Given the description of an element on the screen output the (x, y) to click on. 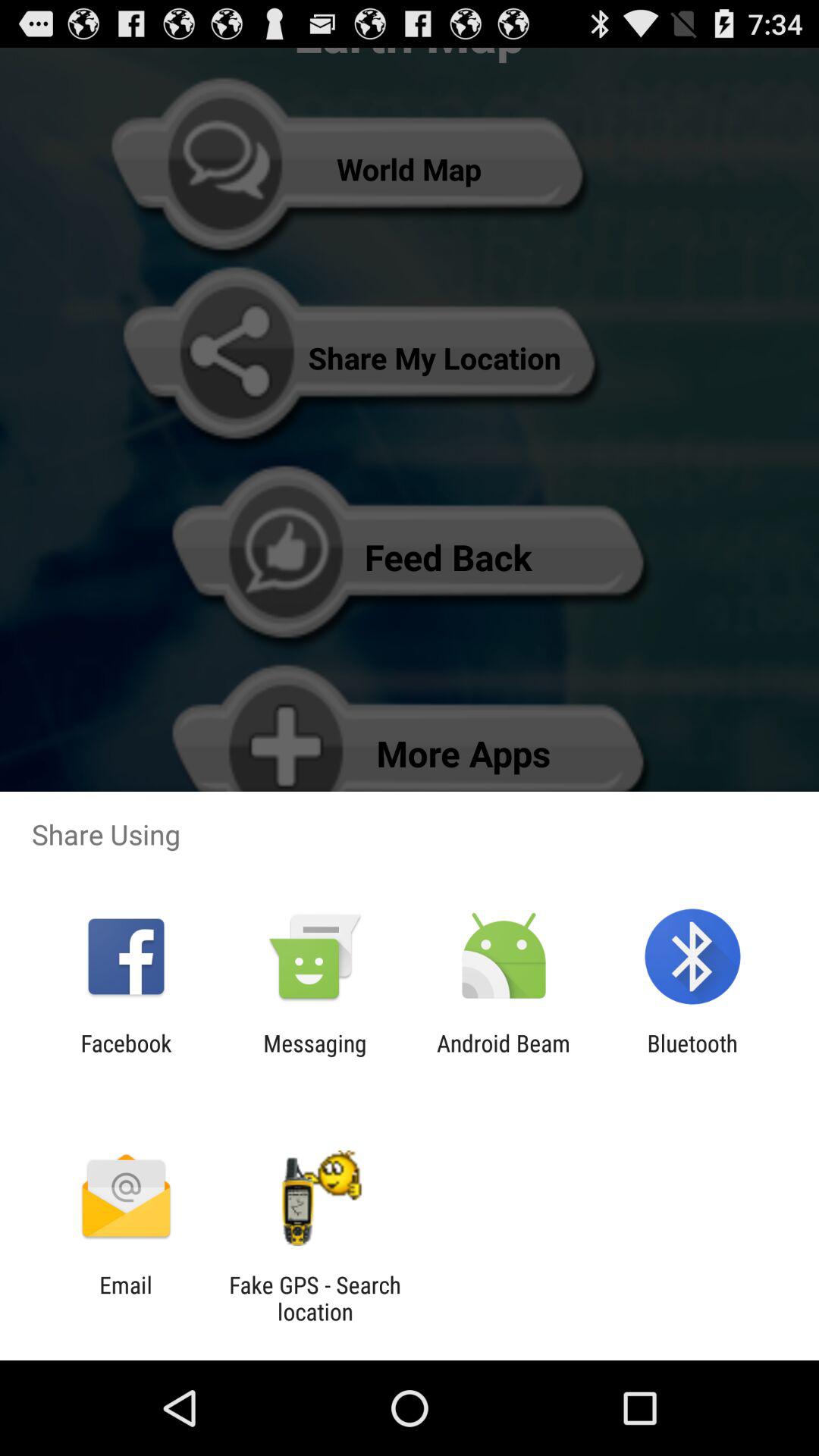
jump to the email icon (125, 1298)
